Given the description of an element on the screen output the (x, y) to click on. 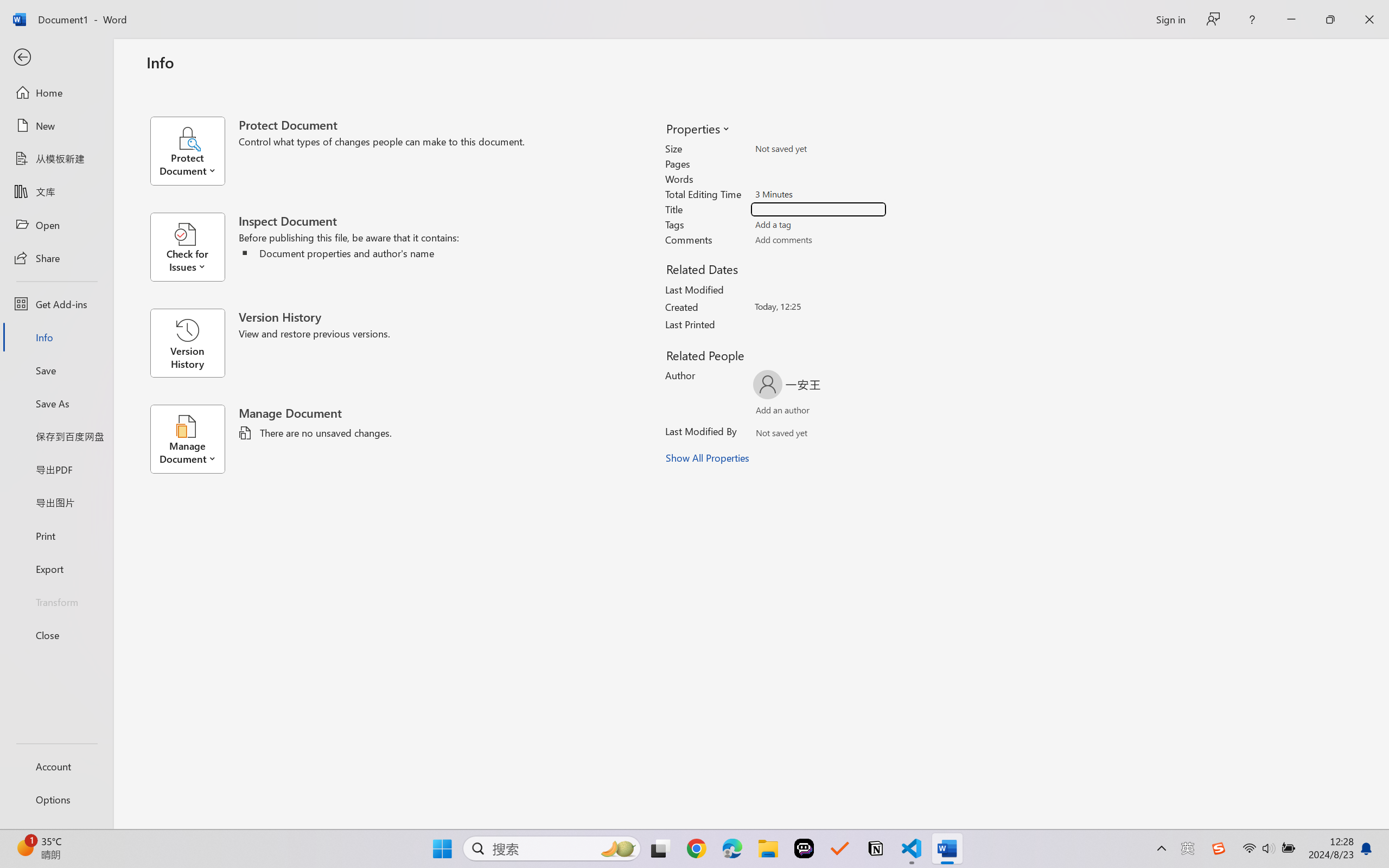
Google Cloud (46, 71)
Support (1169, 71)
Start free (1340, 71)
Contact Us (339, 71)
June 27, 2024 (453, 782)
https://cloud.google.com/terms/services (762, 220)
December 5, 2023 (387, 832)
February 29, 2024 (552, 807)
April 24, 2024 (766, 782)
